Given the description of an element on the screen output the (x, y) to click on. 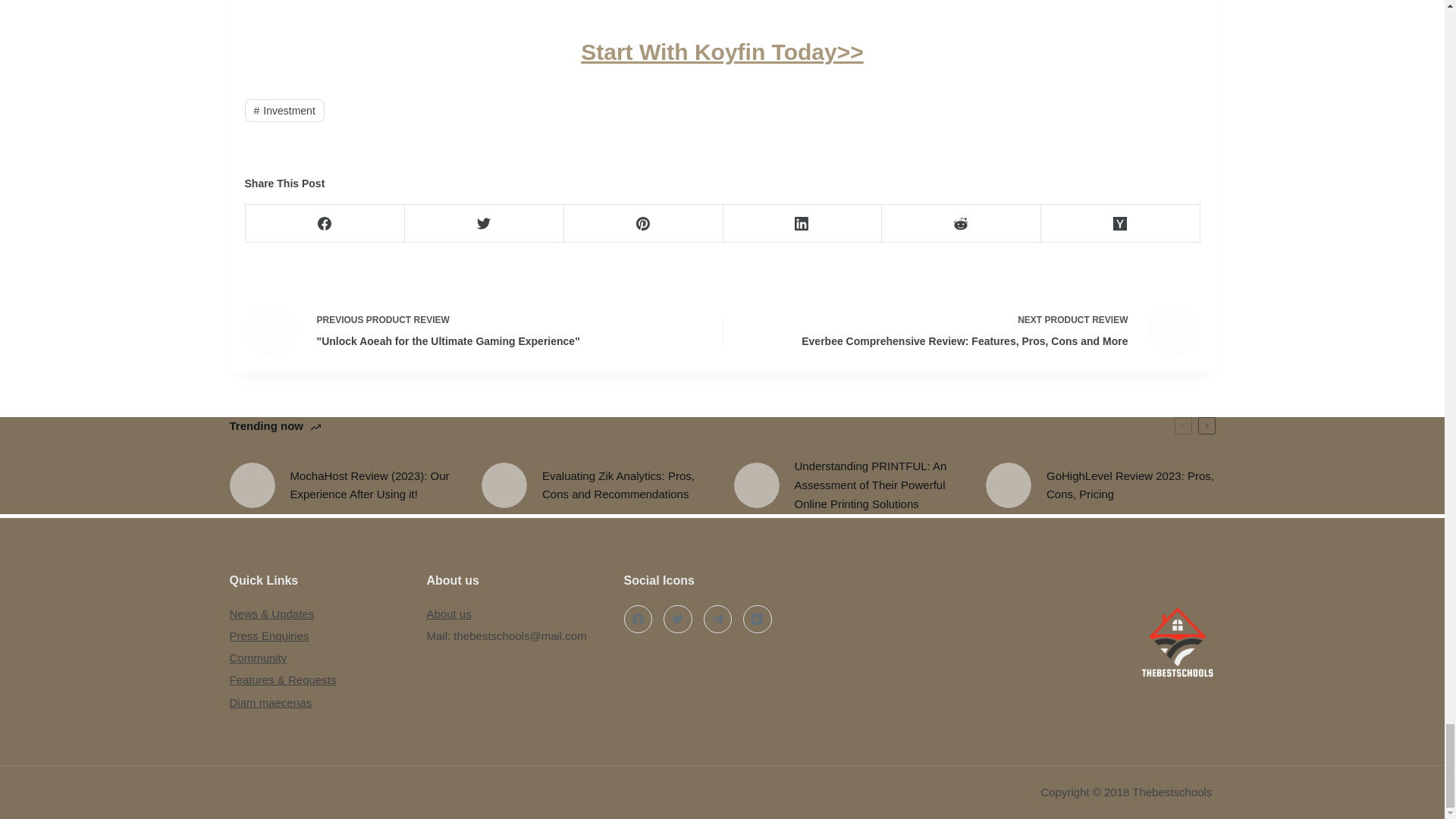
Community (257, 657)
Press Enquiries (268, 635)
Diam maecenas (269, 702)
Evaluating Zik Analytics: Pros, Cons and Recommendations (596, 485)
About us (448, 613)
GoHighLevel Review 2023: Pros, Cons, Pricing (1100, 485)
Investment (283, 110)
